Given the description of an element on the screen output the (x, y) to click on. 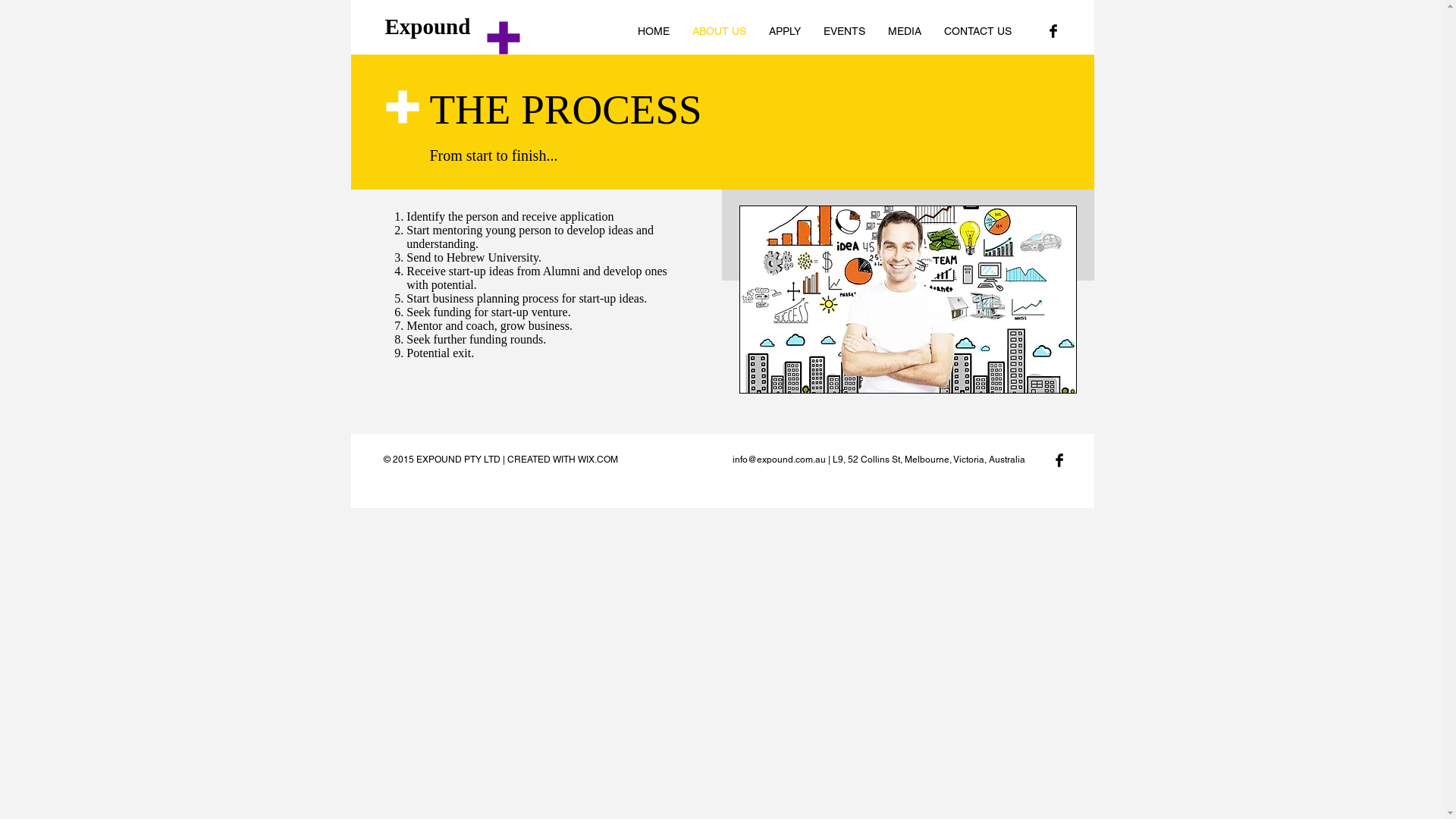
MEDIA Element type: text (904, 30)
ABOUT US Element type: text (718, 30)
EVENTS Element type: text (843, 30)
APPLY Element type: text (783, 30)
info@expound.com.au Element type: text (778, 459)
CONTACT US Element type: text (977, 30)
WIX.COM Element type: text (597, 459)
HOME Element type: text (653, 30)
